Given the description of an element on the screen output the (x, y) to click on. 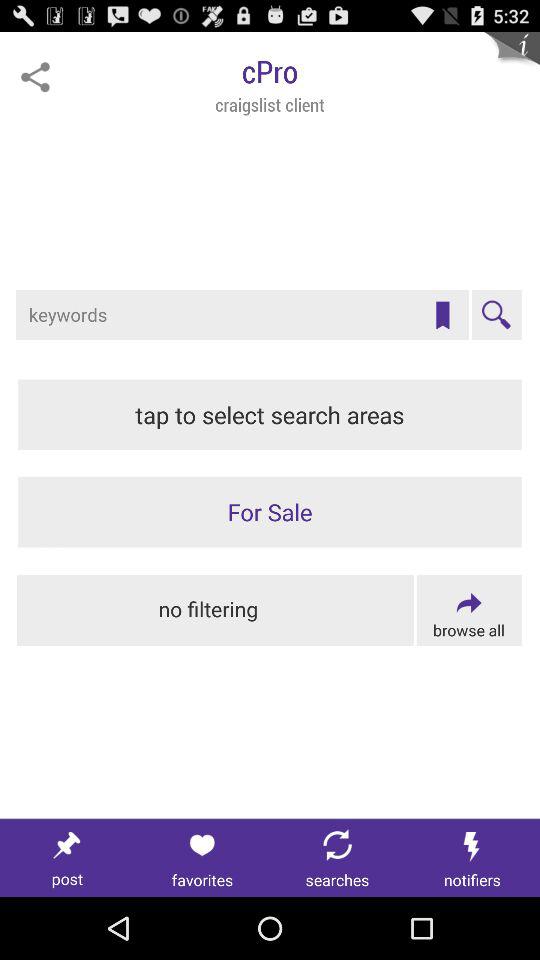
search for item on craigslist (242, 315)
